Given the description of an element on the screen output the (x, y) to click on. 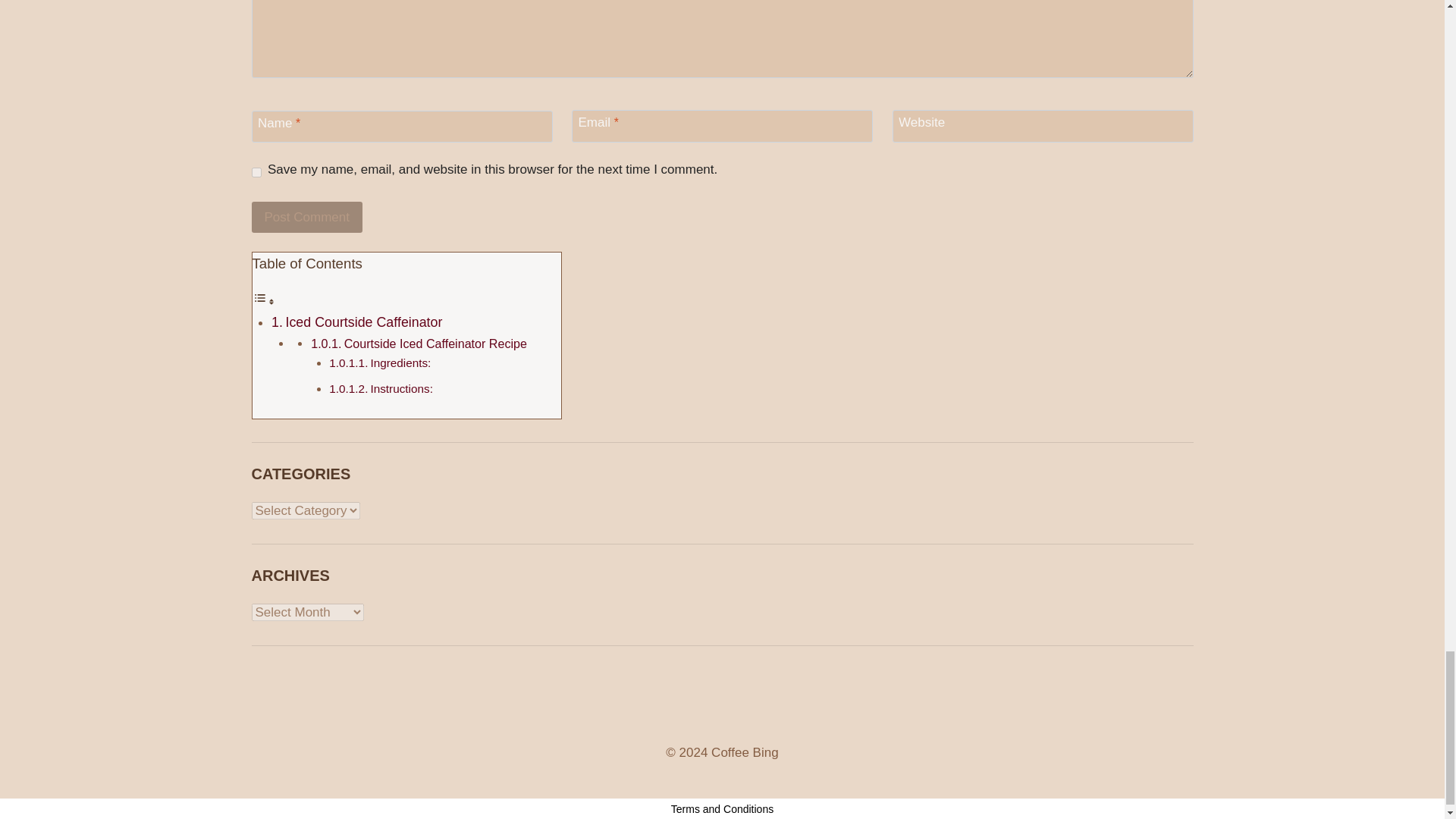
yes (256, 172)
Iced Courtside Caffeinator (363, 322)
Ingredients: (399, 362)
Courtside Iced Caffeinator Recipe (435, 343)
Instructions: (400, 388)
Post Comment (306, 216)
